Given the description of an element on the screen output the (x, y) to click on. 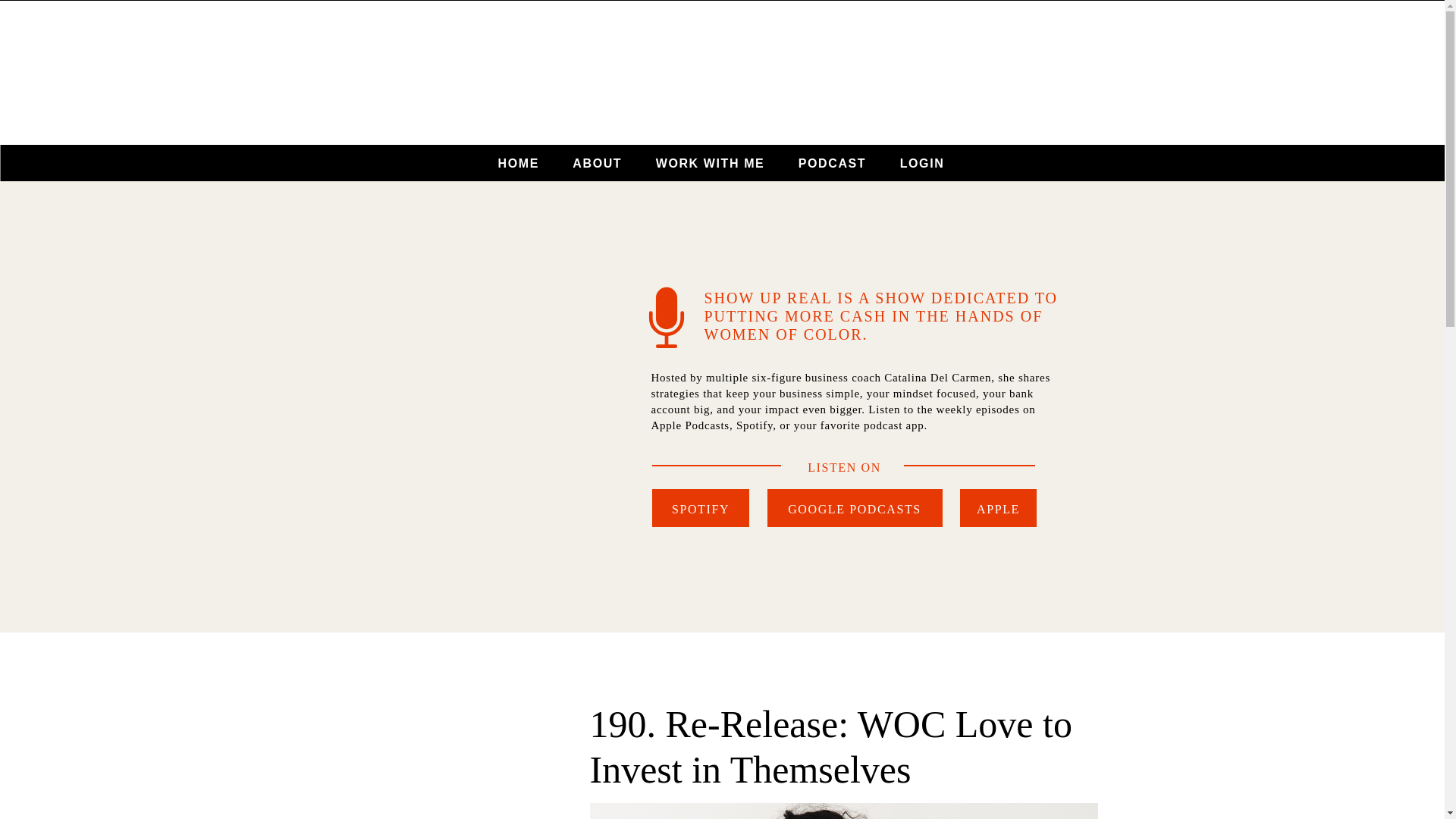
ABOUT (597, 163)
LOGIN (922, 163)
GOOGLE PODCASTS (854, 508)
APPLE (998, 508)
PODCAST (831, 163)
WORK WITH ME (710, 163)
SPOTIFY (700, 508)
HOME (517, 163)
